Given the description of an element on the screen output the (x, y) to click on. 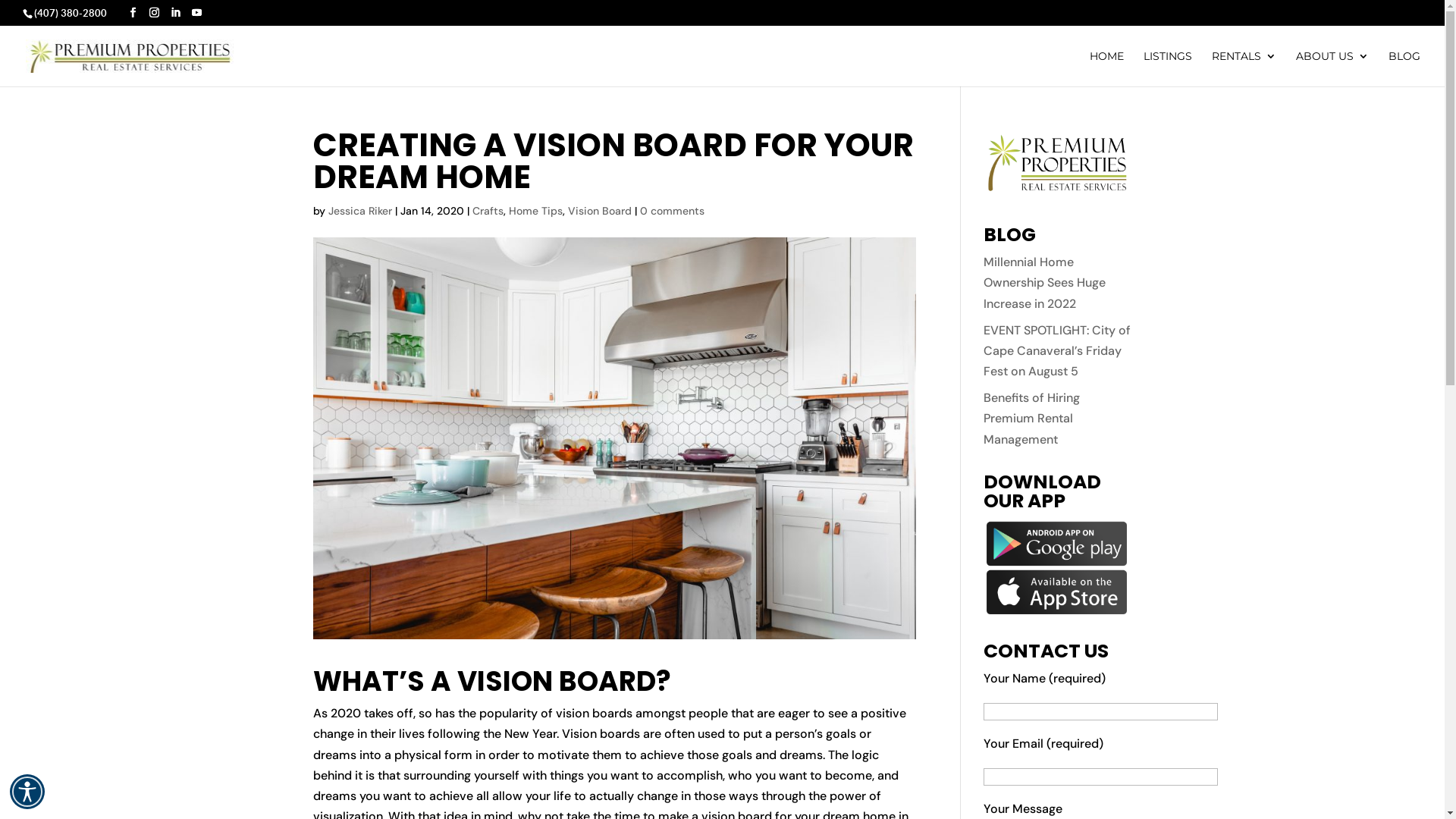
HOME Element type: text (1106, 67)
Jessica Riker Element type: text (359, 210)
RENTALS Element type: text (1243, 67)
BLOG Element type: text (1404, 67)
Vision Board Element type: text (598, 210)
Millennial Home Ownership Sees Huge Increase in 2022 Element type: text (1044, 282)
Benefits of Hiring Premium Rental Management Element type: text (1031, 417)
ABOUT US Element type: text (1331, 67)
0 comments Element type: text (672, 210)
LISTINGS Element type: text (1167, 67)
Home Tips Element type: text (534, 210)
Crafts Element type: text (486, 210)
